Given the description of an element on the screen output the (x, y) to click on. 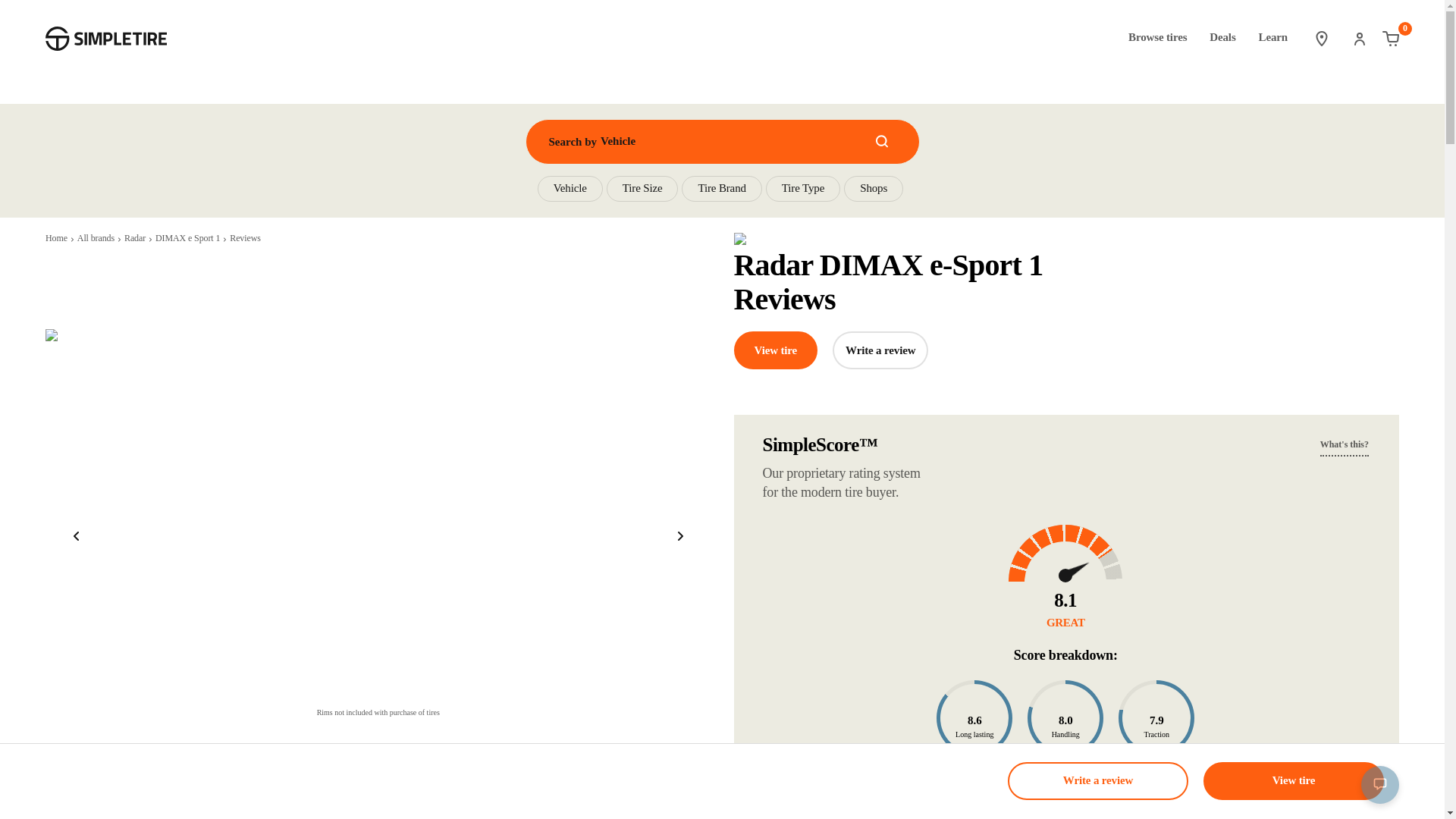
All brands (96, 238)
Reviews (245, 238)
Tire Brand (721, 188)
DIMAX e Sport 1 (187, 238)
What's this? (1344, 445)
Radar (722, 141)
Deals (134, 238)
Write a review (1221, 38)
Home (880, 350)
Tire Type (55, 238)
View tire (803, 188)
0 (775, 350)
Shops (1388, 38)
Browse tires (873, 188)
